Given the description of an element on the screen output the (x, y) to click on. 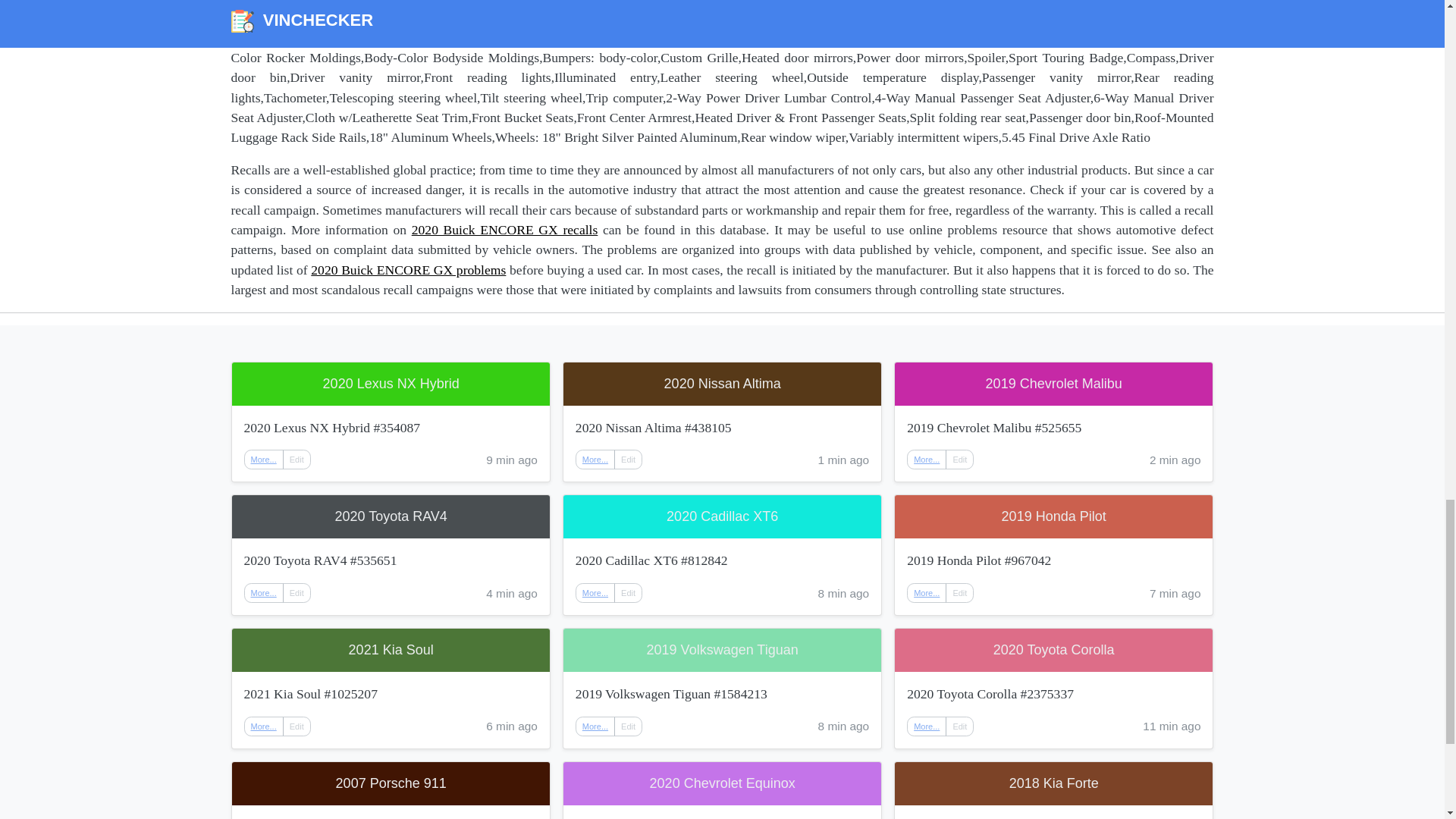
2007 Porsche 911 (390, 783)
2020 Cadillac XT6 (721, 516)
More... (263, 726)
2019 Chevrolet Malibu (1053, 383)
2020 Toyota RAV4 (390, 516)
More... (926, 726)
More... (594, 726)
More... (263, 593)
2020 Buick ENCORE GX problems (408, 269)
More... (263, 459)
More... (926, 593)
Edit (959, 726)
2020 Buick ENCORE GX recalls (505, 229)
2018 Kia Forte (1053, 783)
2020 Buick ENCORE GX problems (408, 269)
